Given the description of an element on the screen output the (x, y) to click on. 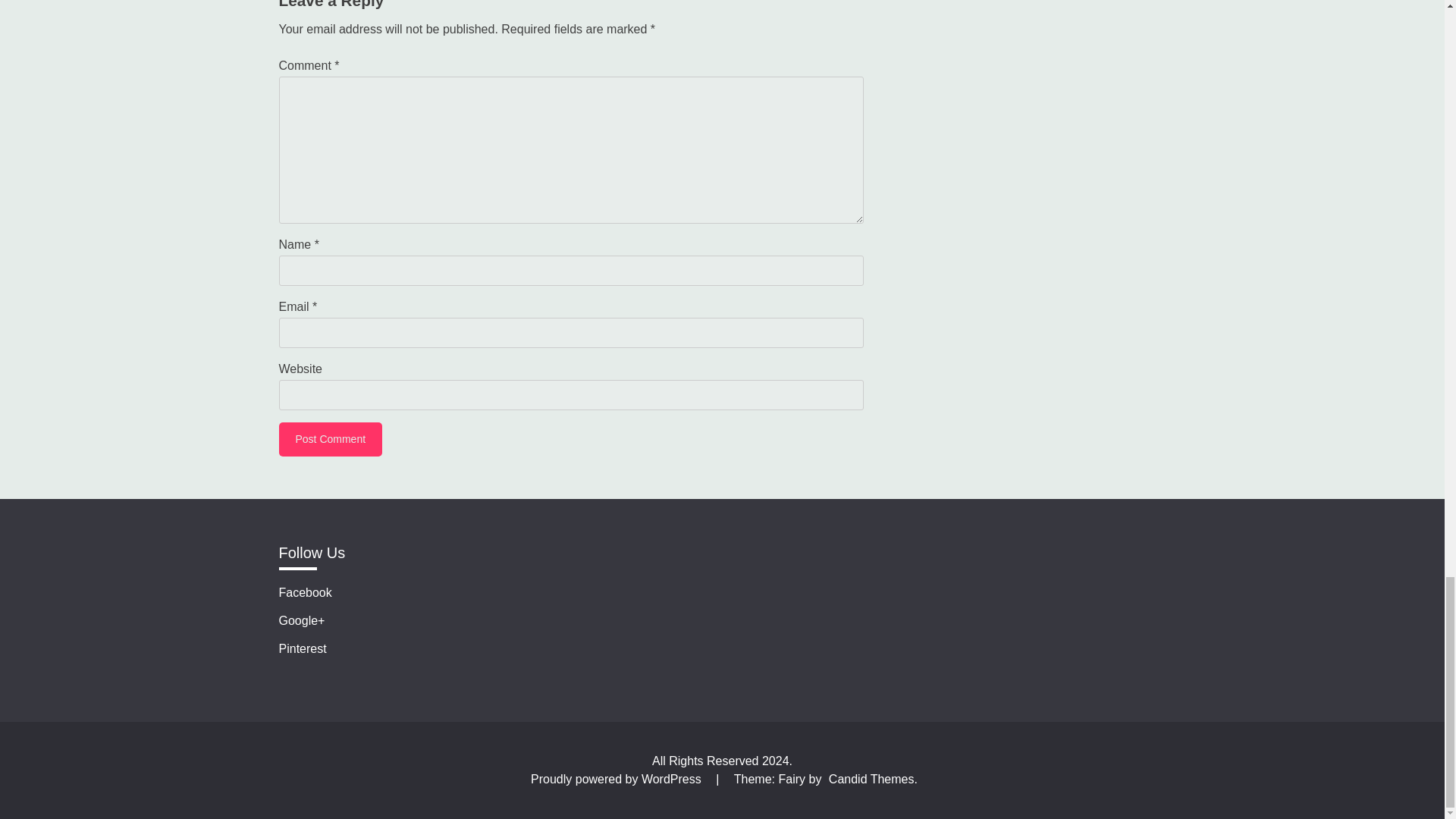
Post Comment (330, 439)
